Given the description of an element on the screen output the (x, y) to click on. 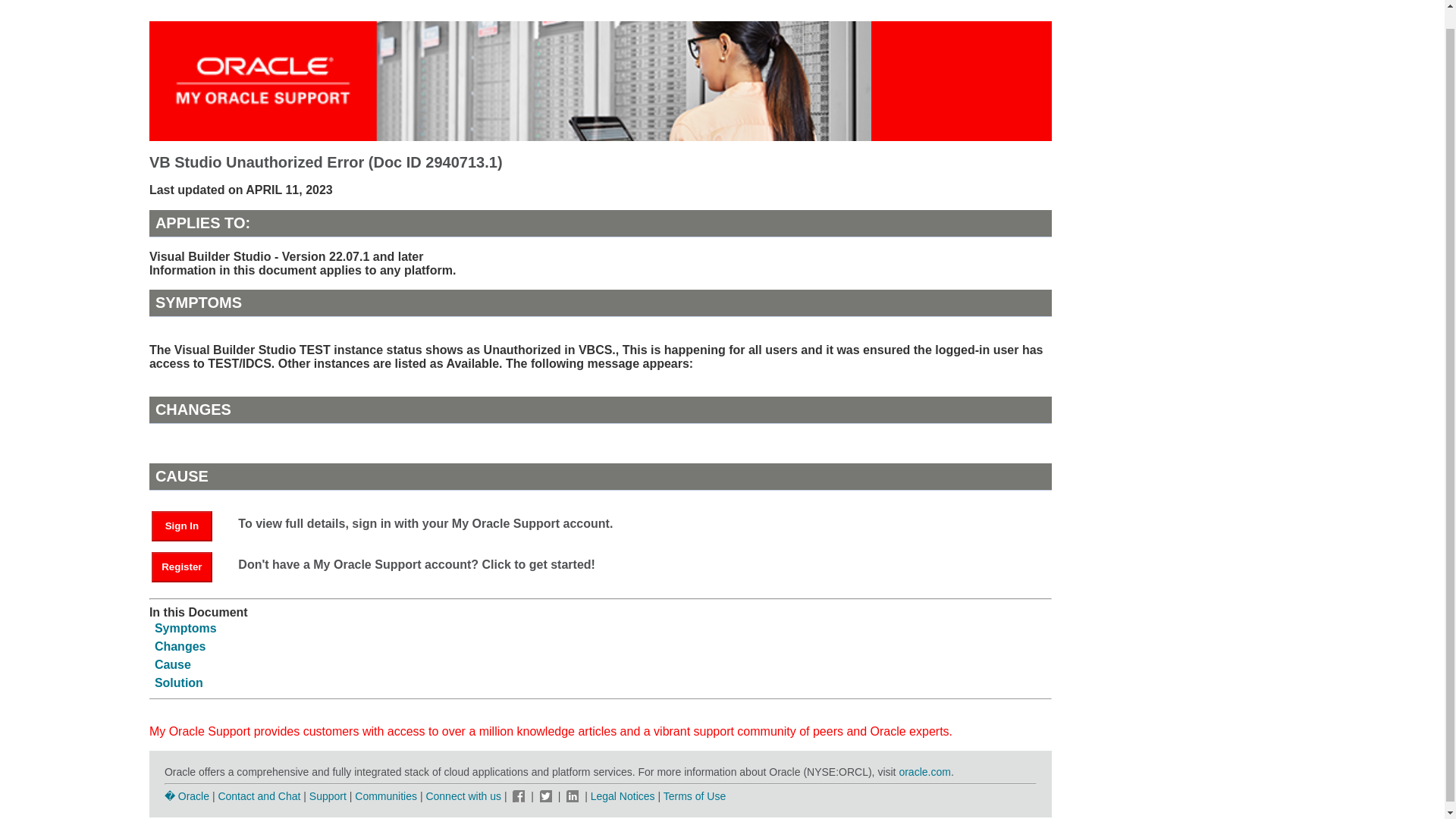
Changes (180, 645)
Register (181, 567)
Contact and Chat (257, 796)
Terms of Use (694, 796)
Communities (385, 796)
Sign In (189, 524)
Legal Notices (623, 796)
Symptoms (185, 627)
Support (327, 796)
Cause (172, 664)
